Given the description of an element on the screen output the (x, y) to click on. 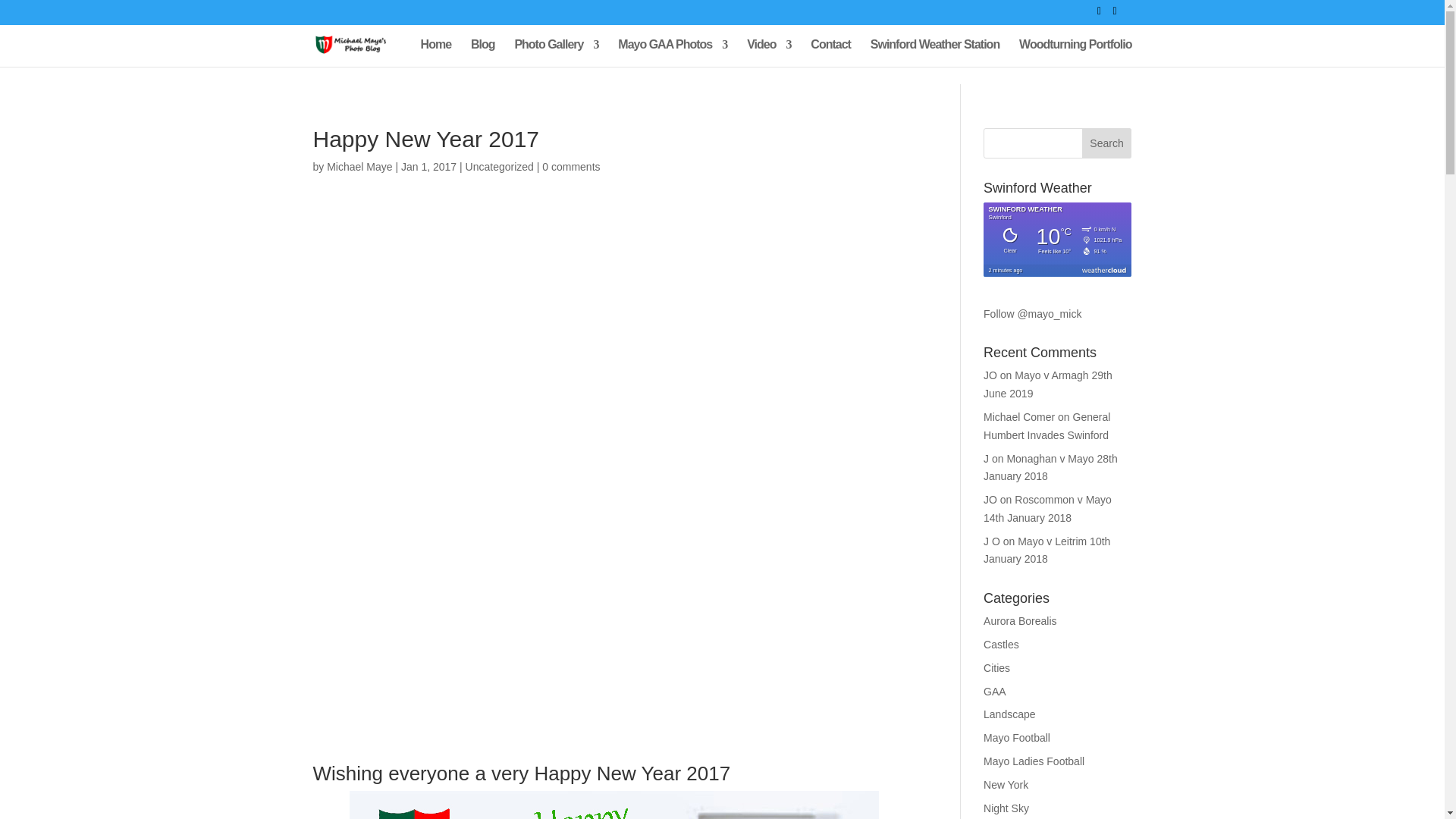
Woodturning Shop (1075, 52)
Photo Gallery (555, 52)
Home (435, 52)
Posts by Michael Maye (358, 166)
Search (1106, 142)
Mayo GAA Photos (671, 52)
Video (768, 52)
